Given the description of an element on the screen output the (x, y) to click on. 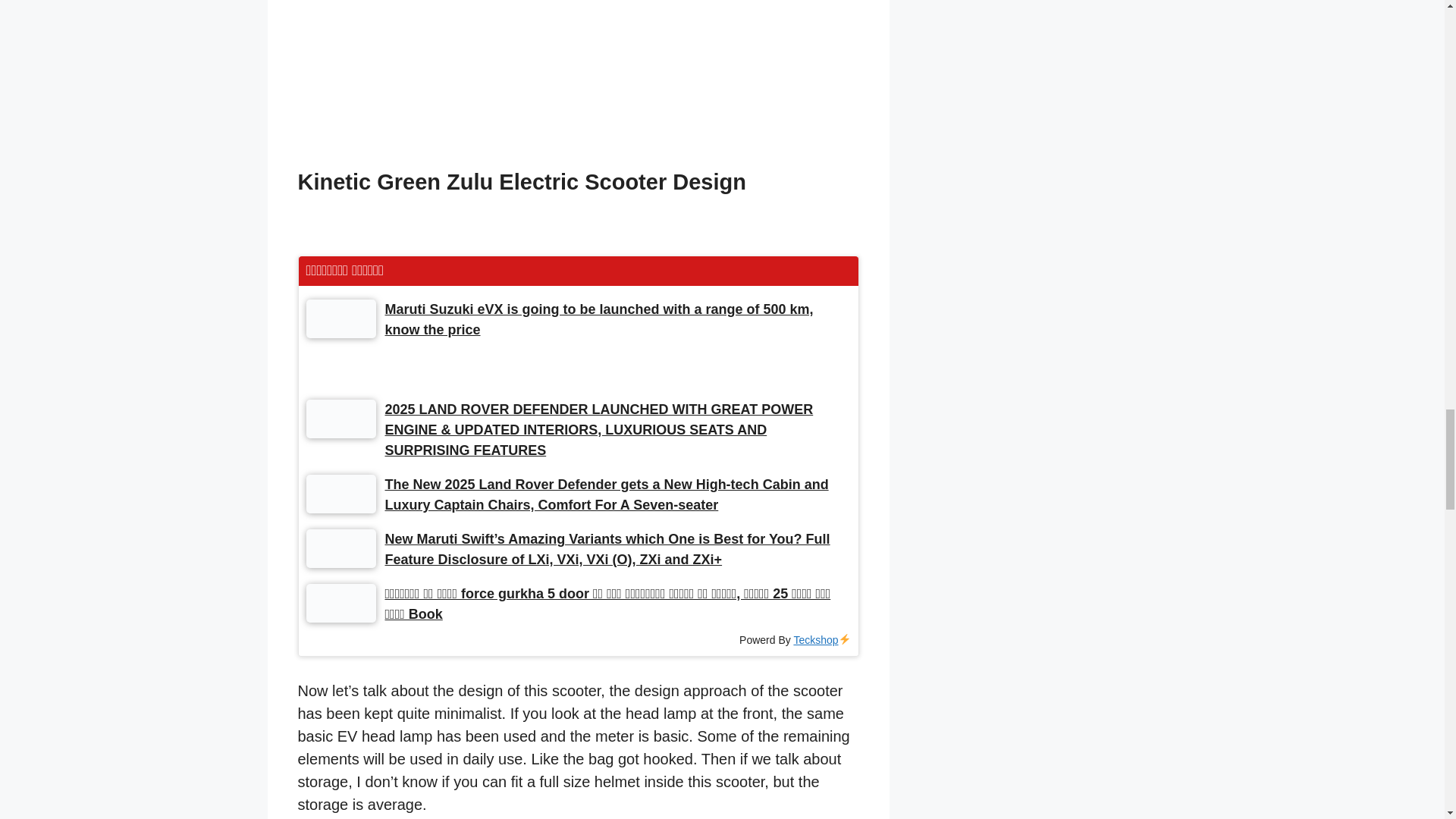
Teckshop (821, 639)
